Given the description of an element on the screen output the (x, y) to click on. 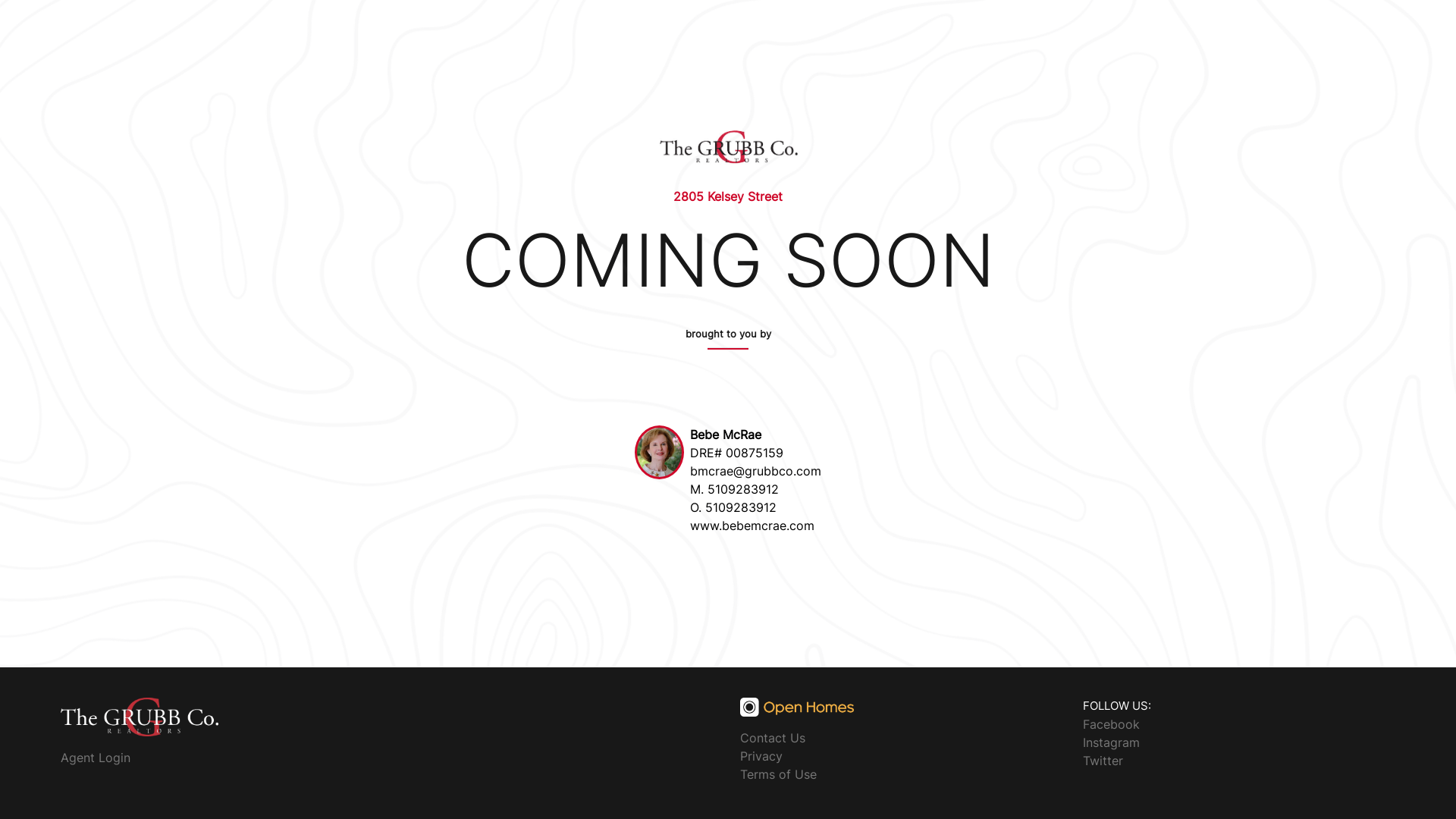
Twitter Element type: text (1102, 759)
Privacy Element type: text (761, 755)
5109283912 Element type: text (740, 506)
bmcrae@grubbco.com Element type: text (755, 470)
Contact Us Element type: text (772, 737)
5109283912 Element type: text (742, 488)
Instagram Element type: text (1110, 741)
www.bebemcrae.com Element type: text (752, 525)
Terms of Use Element type: text (778, 773)
Agent Login Element type: text (95, 757)
Facebook Element type: text (1110, 723)
